Given the description of an element on the screen output the (x, y) to click on. 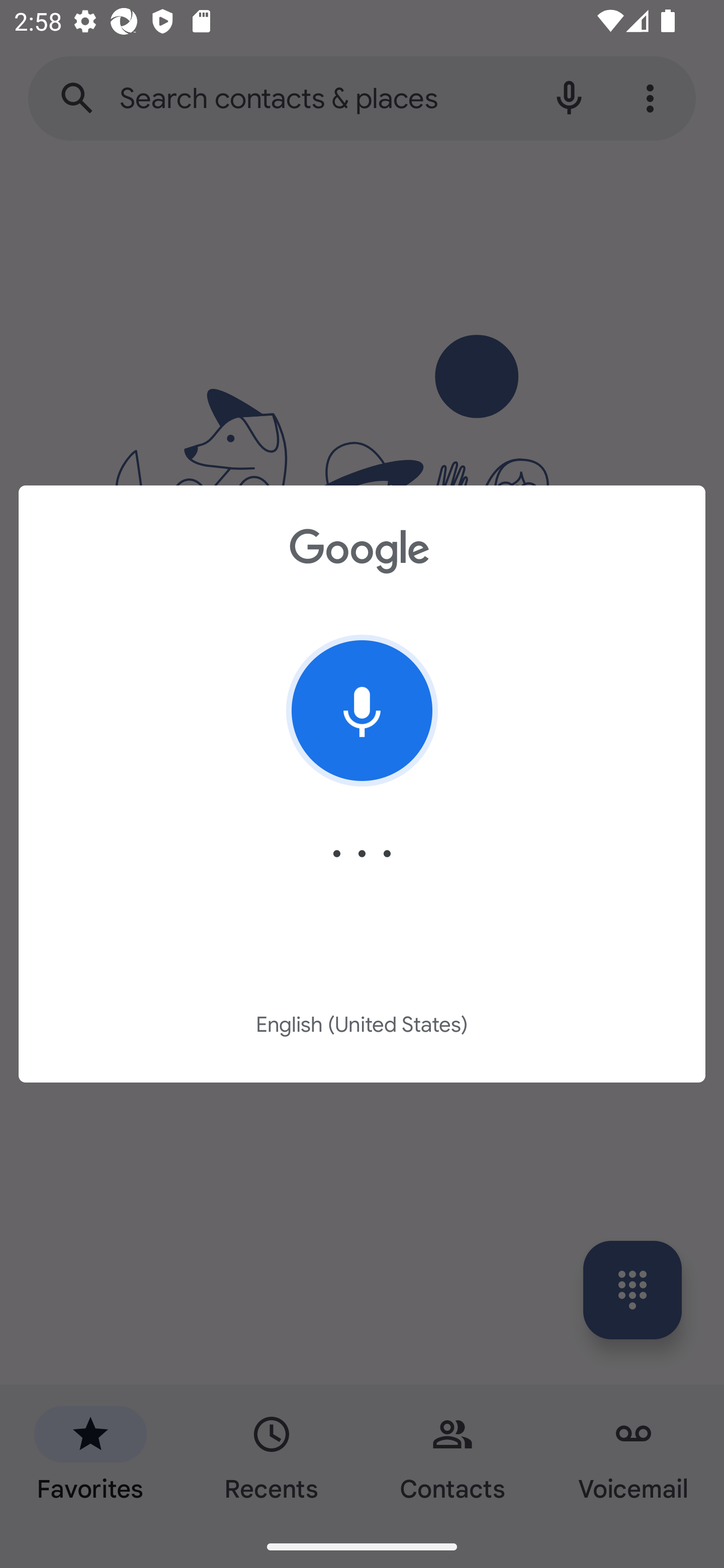
Tap to stop listening (361, 710)
